Given the description of an element on the screen output the (x, y) to click on. 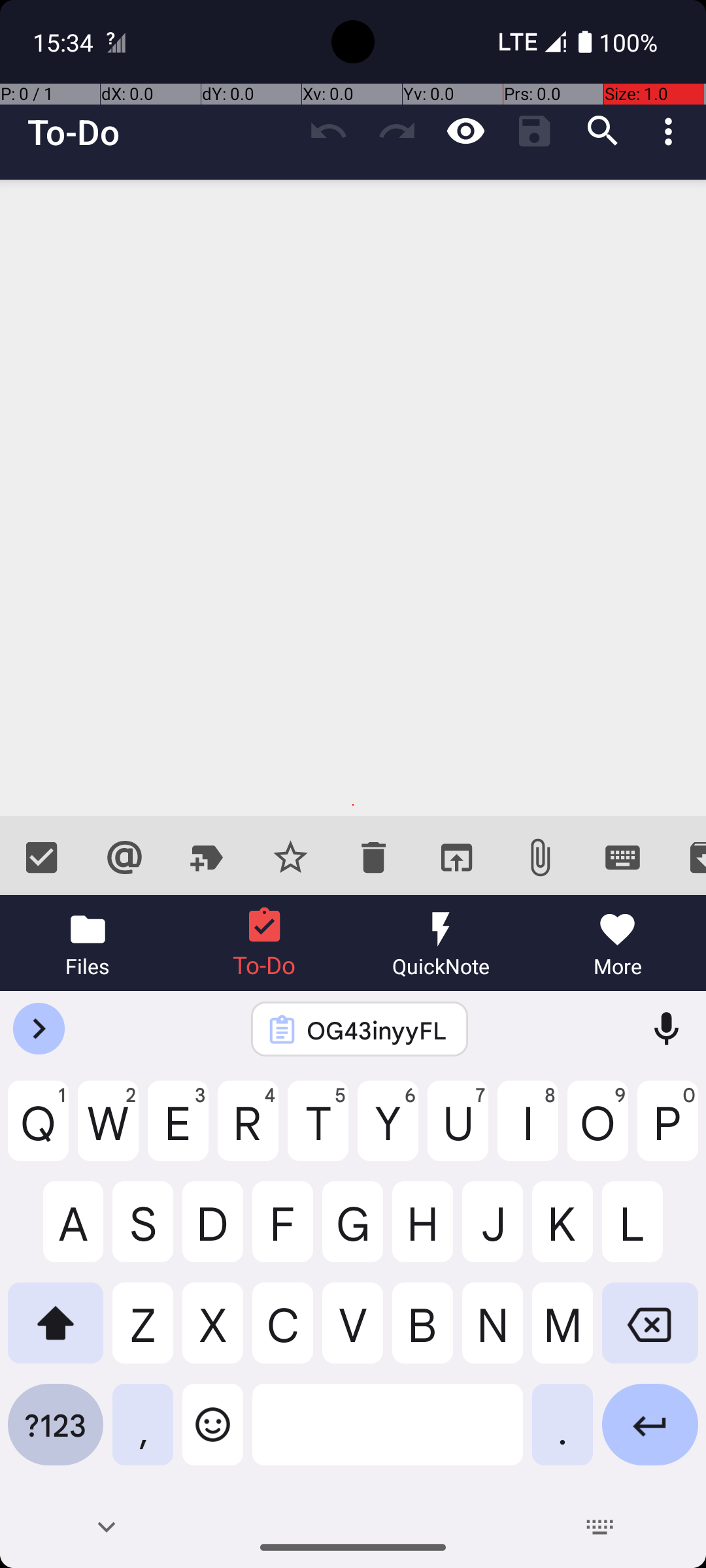
OG43inyyFL Element type: android.widget.TextView (376, 1029)
